Given the description of an element on the screen output the (x, y) to click on. 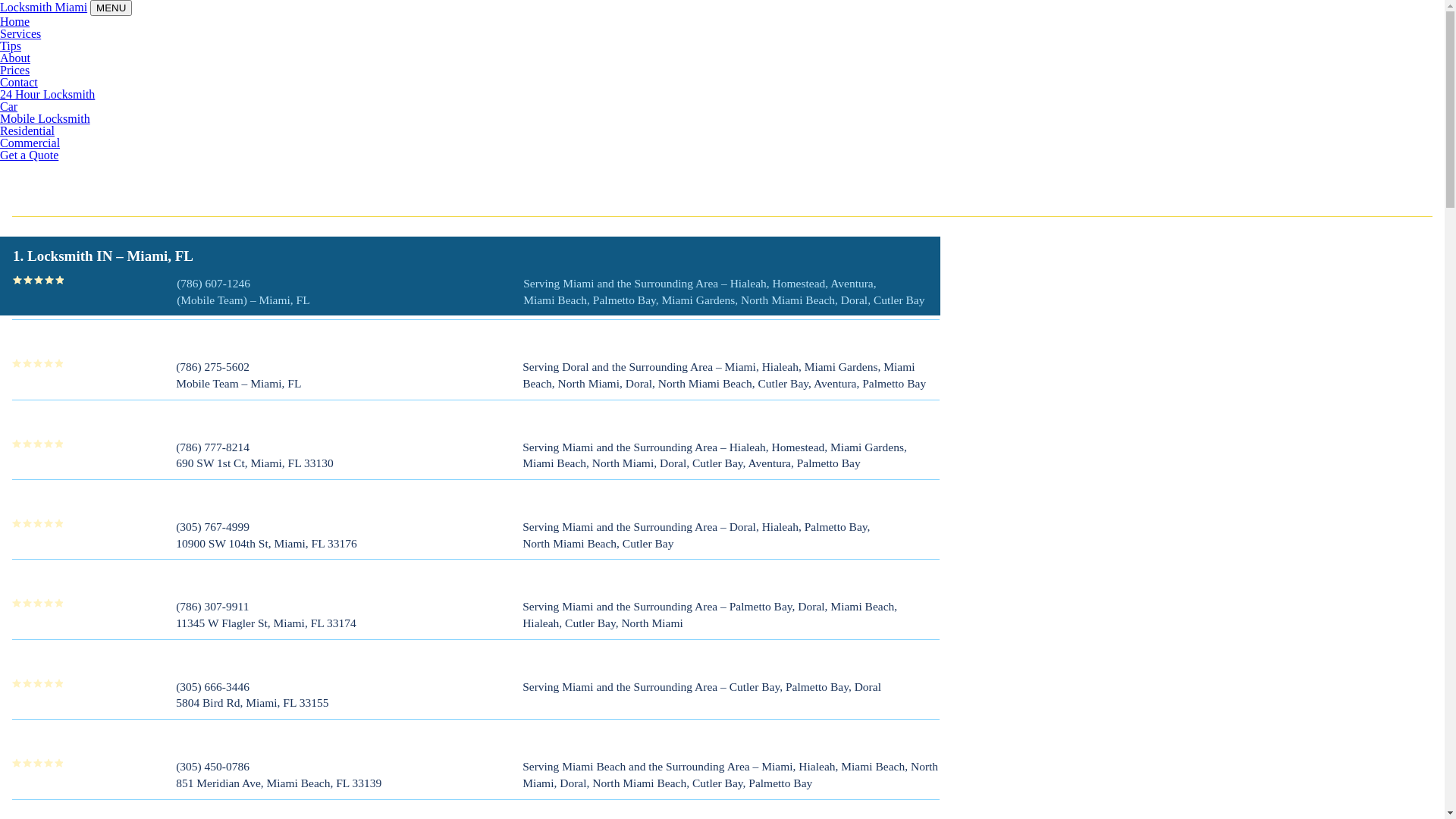
Car Element type: text (8, 106)
Commercial Element type: text (29, 142)
Contact Element type: text (18, 81)
(786) 607-1246 Element type: text (213, 282)
24 Hour Locksmith Element type: text (47, 93)
(786) 777-8214 Element type: text (212, 446)
Get a Quote Element type: text (29, 154)
Prices Element type: text (14, 69)
(786) 307-9911 Element type: text (211, 605)
(305) 666-3446 Element type: text (212, 686)
Services Element type: text (20, 33)
Residential Element type: text (27, 130)
(305) 450-0786 Element type: text (212, 765)
Tips Element type: text (10, 45)
Mobile Locksmith Element type: text (45, 118)
MENU Element type: text (110, 7)
(786) 275-5602 Element type: text (212, 366)
About Element type: text (15, 57)
Locksmith Miami Element type: text (43, 6)
Home Element type: text (14, 21)
(305) 767-4999 Element type: text (212, 526)
